Given the description of an element on the screen output the (x, y) to click on. 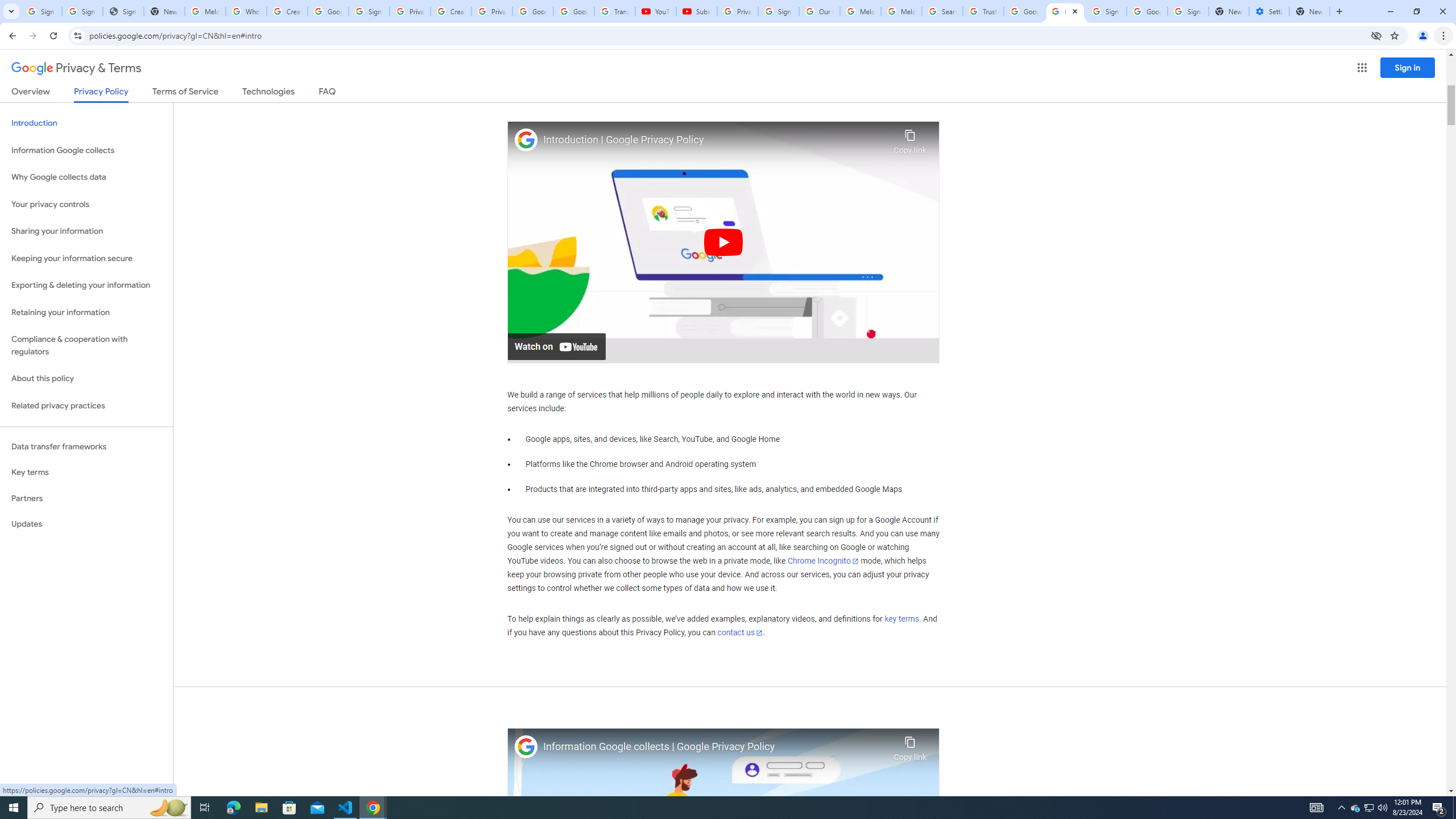
Play (723, 241)
Data transfer frameworks (86, 446)
About this policy (86, 379)
Google Cybersecurity Innovations - Google Safety Center (1146, 11)
Watch on YouTube (556, 346)
Trusted Information and Content - Google Safety Center (983, 11)
Your privacy controls (86, 204)
Copy link (909, 745)
